Given the description of an element on the screen output the (x, y) to click on. 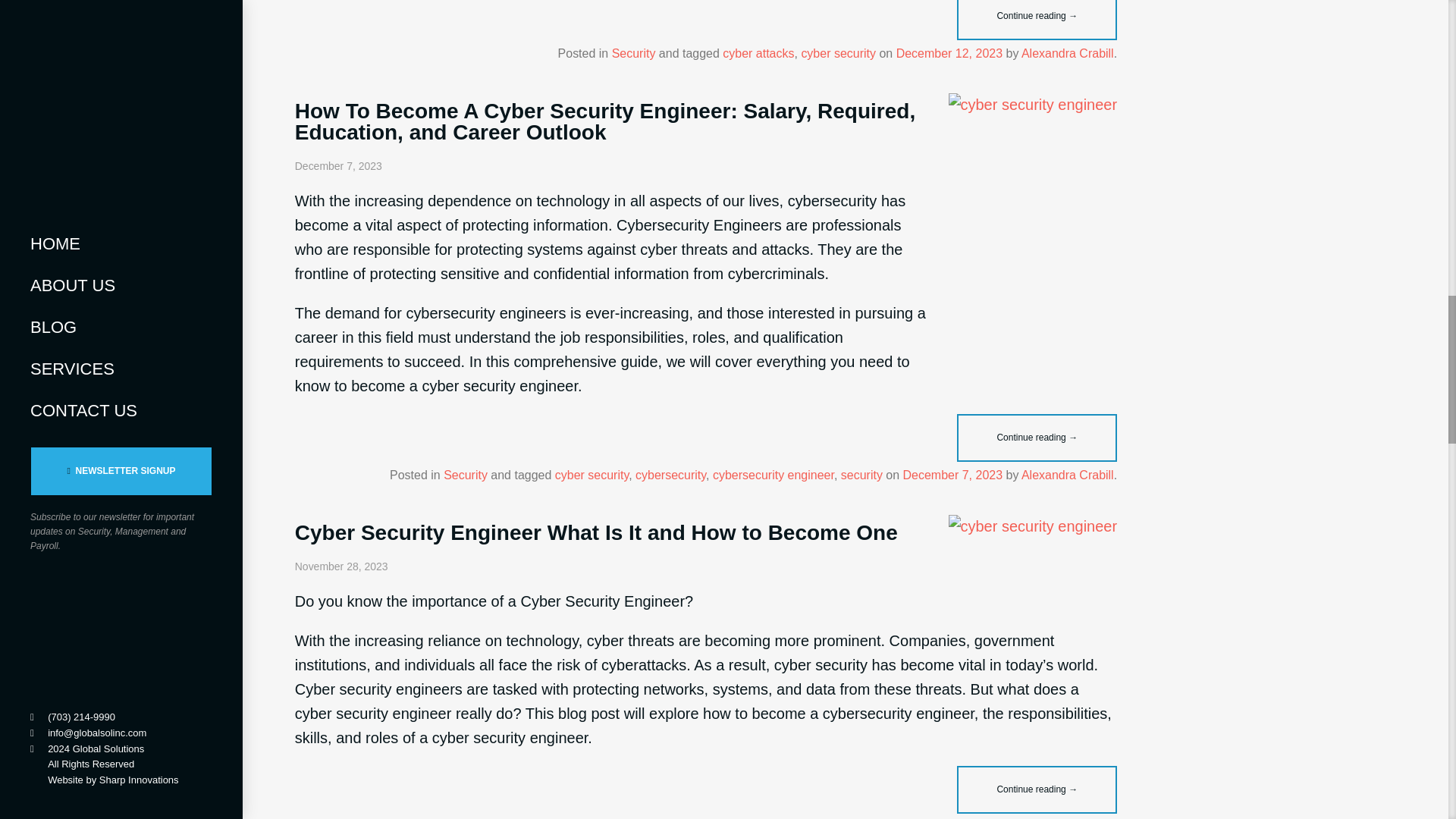
View all posts by Alexandra Crabill (1067, 52)
10:00 am (952, 474)
View all posts by Alexandra Crabill (1067, 474)
2:52 pm (949, 52)
